Given the description of an element on the screen output the (x, y) to click on. 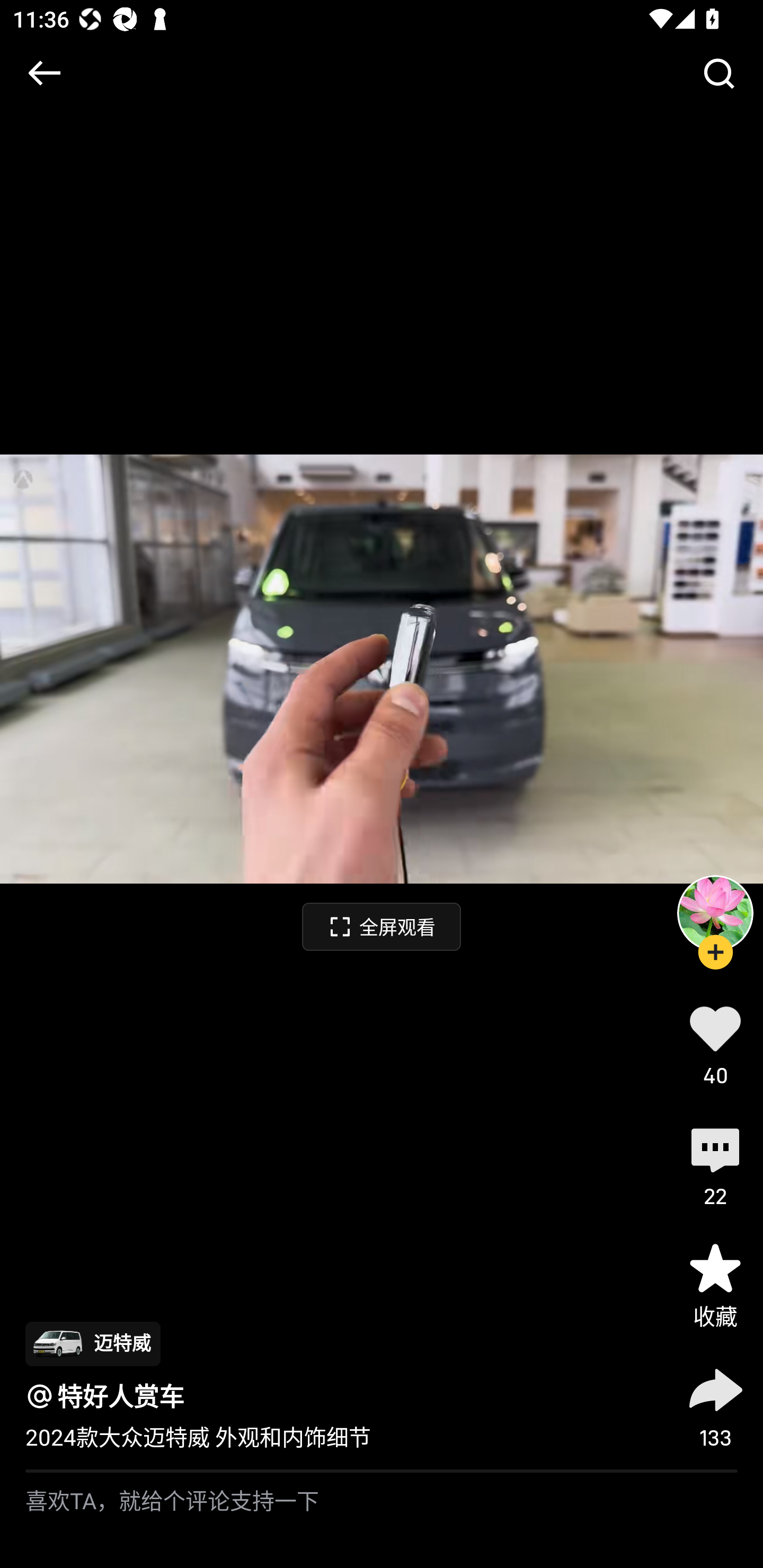
 (44, 72)
 (718, 72)
 全屏观看 (381, 926)
22 (715, 1164)
收藏 (715, 1284)
迈特威 (92, 1343)
133 (715, 1405)
特好人赏车 (120, 1396)
2024款大众迈特威 外观和内饰细节 (197, 1437)
喜欢TA，就给个评论支持一下 (381, 1520)
